Given the description of an element on the screen output the (x, y) to click on. 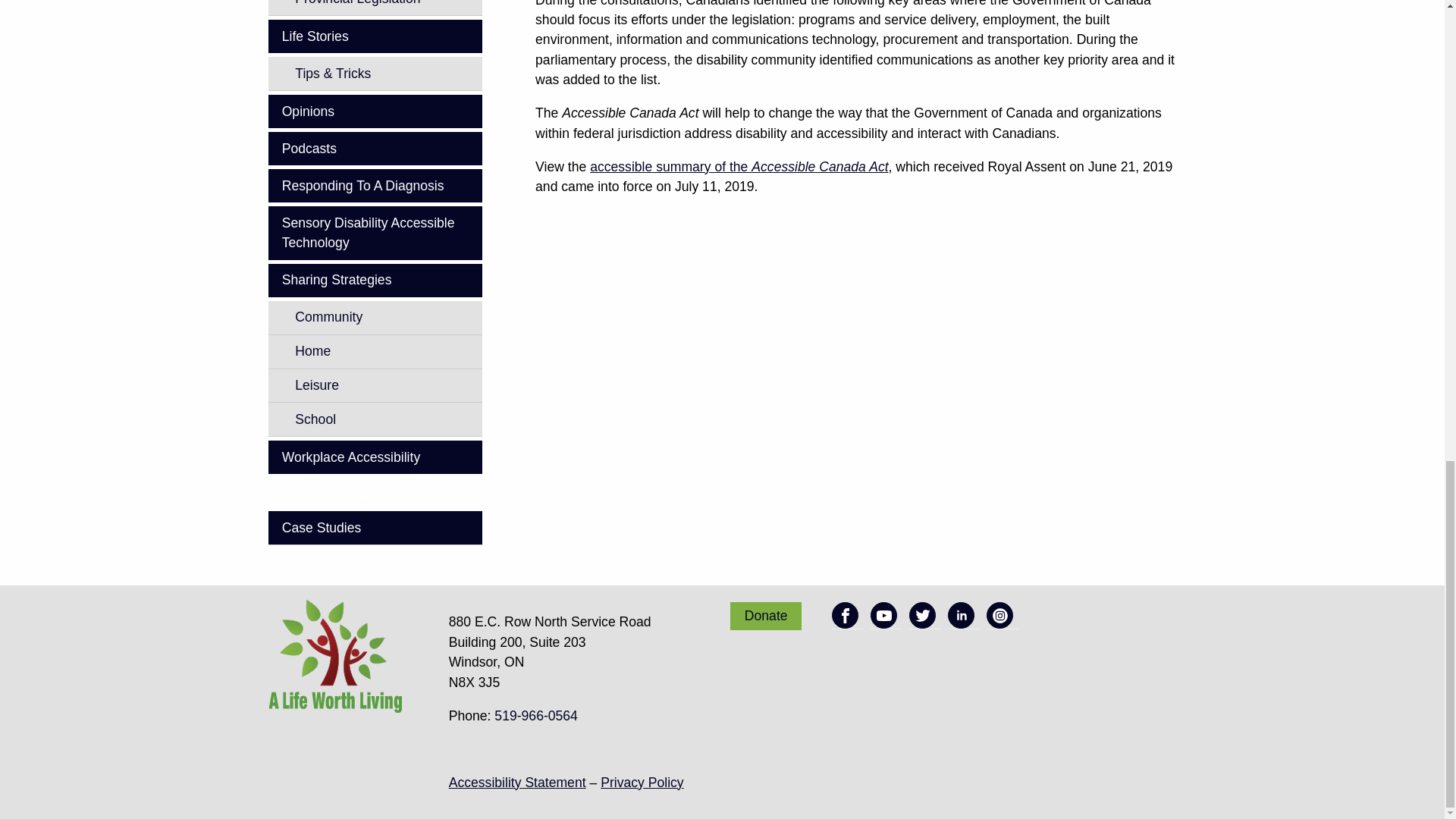
Community (381, 317)
Leisure (381, 385)
Opinions (374, 111)
Home (381, 351)
Sharing Strategies (374, 280)
Responding To A Diagnosis (374, 185)
Podcasts (374, 148)
Provincial Legislation (381, 7)
Life Stories (374, 36)
Sensory Disability Accessible Technology (374, 232)
